Given the description of an element on the screen output the (x, y) to click on. 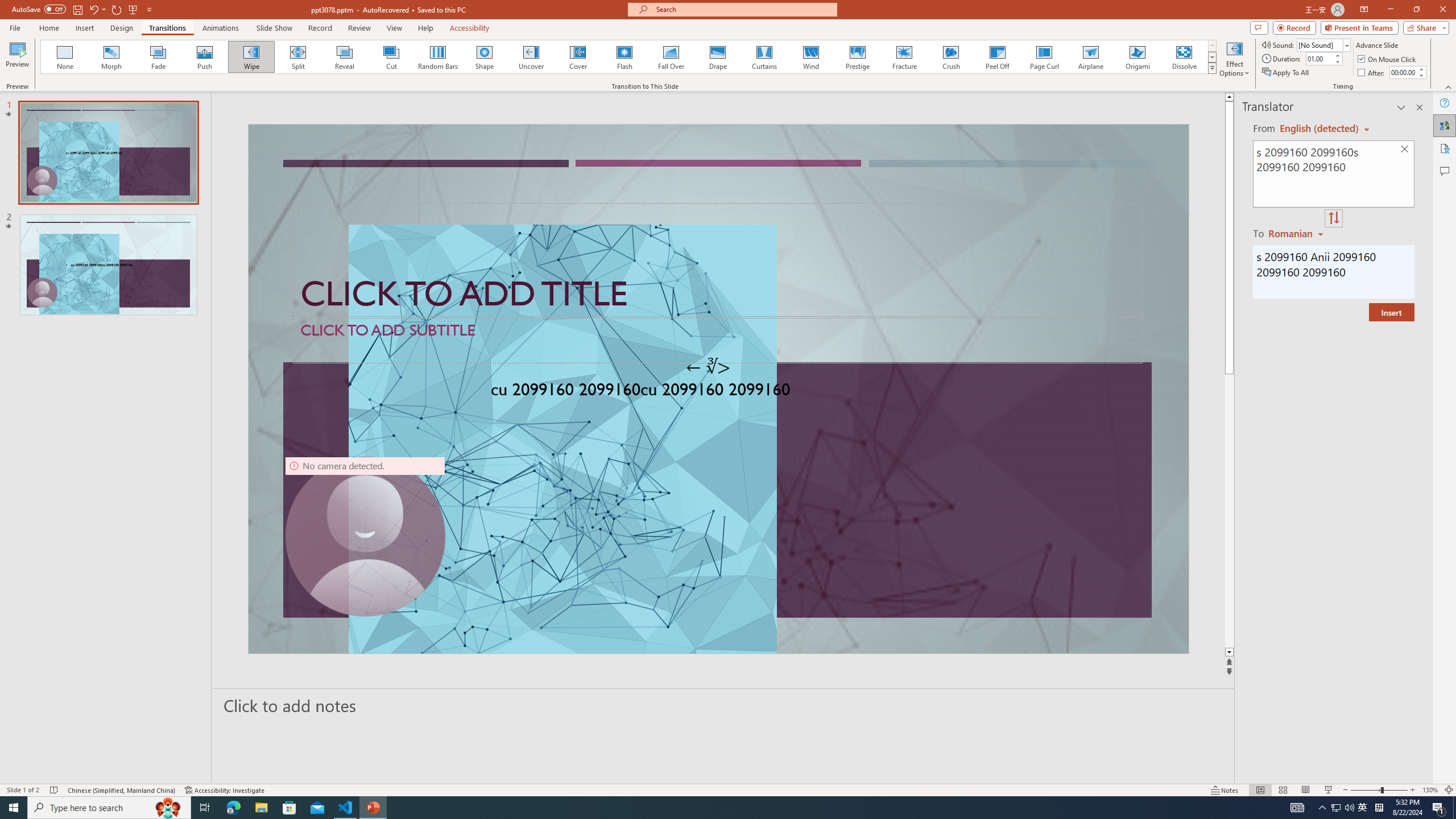
Class: MsoCommandBar (728, 789)
Effect Options (1234, 58)
Accessibility (1444, 147)
Close pane (1419, 107)
Translator (1444, 125)
